Given the description of an element on the screen output the (x, y) to click on. 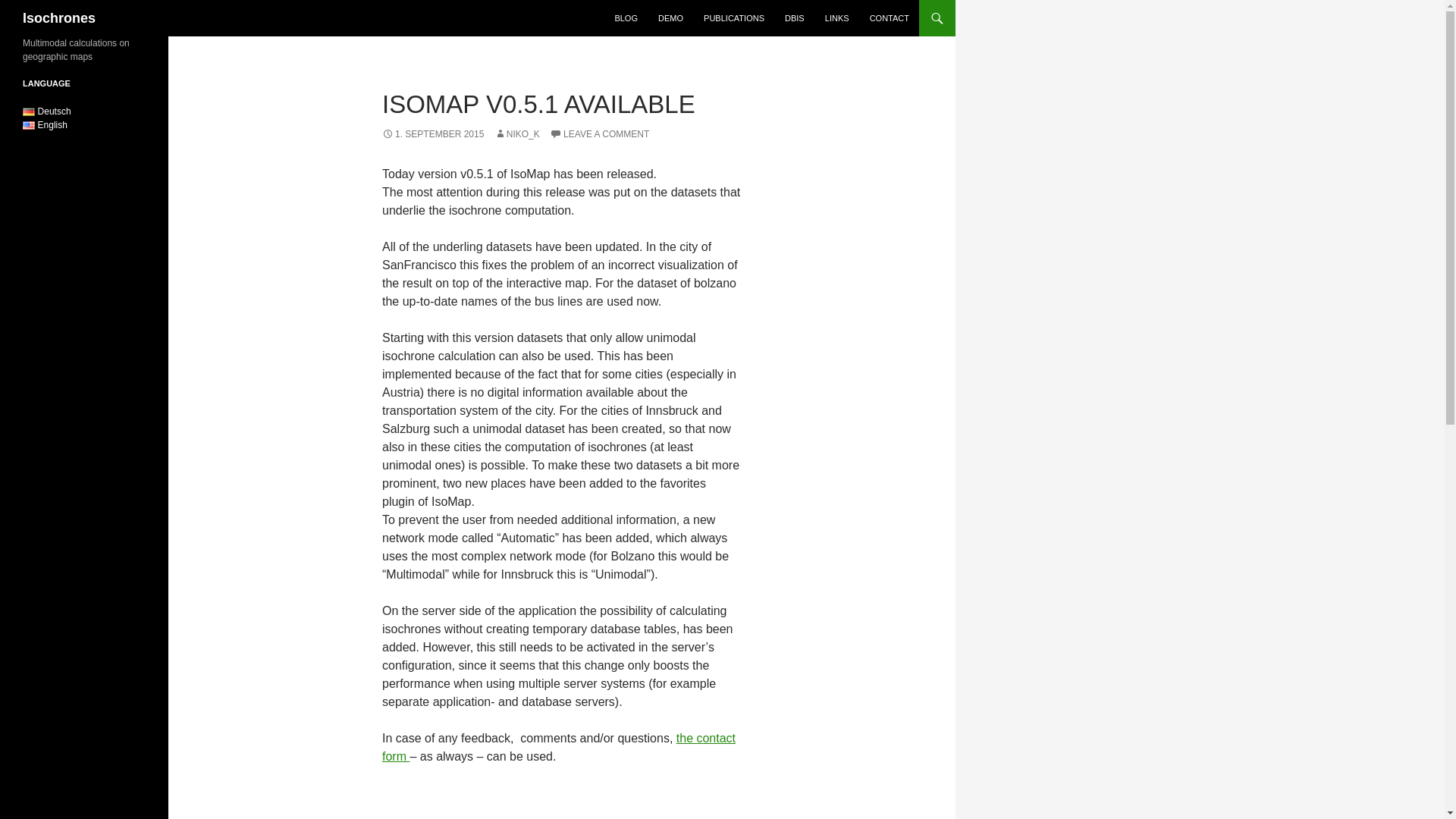
DBIS (794, 18)
LINKS (837, 18)
Contact (558, 747)
DEMO (671, 18)
1. SEPTEMBER 2015 (432, 133)
LEAVE A COMMENT (599, 133)
PUBLICATIONS (733, 18)
the contact form (558, 747)
English (44, 124)
BLOG (625, 18)
Isochrones (59, 18)
Deutsch (47, 111)
CONTACT (889, 18)
